Given the description of an element on the screen output the (x, y) to click on. 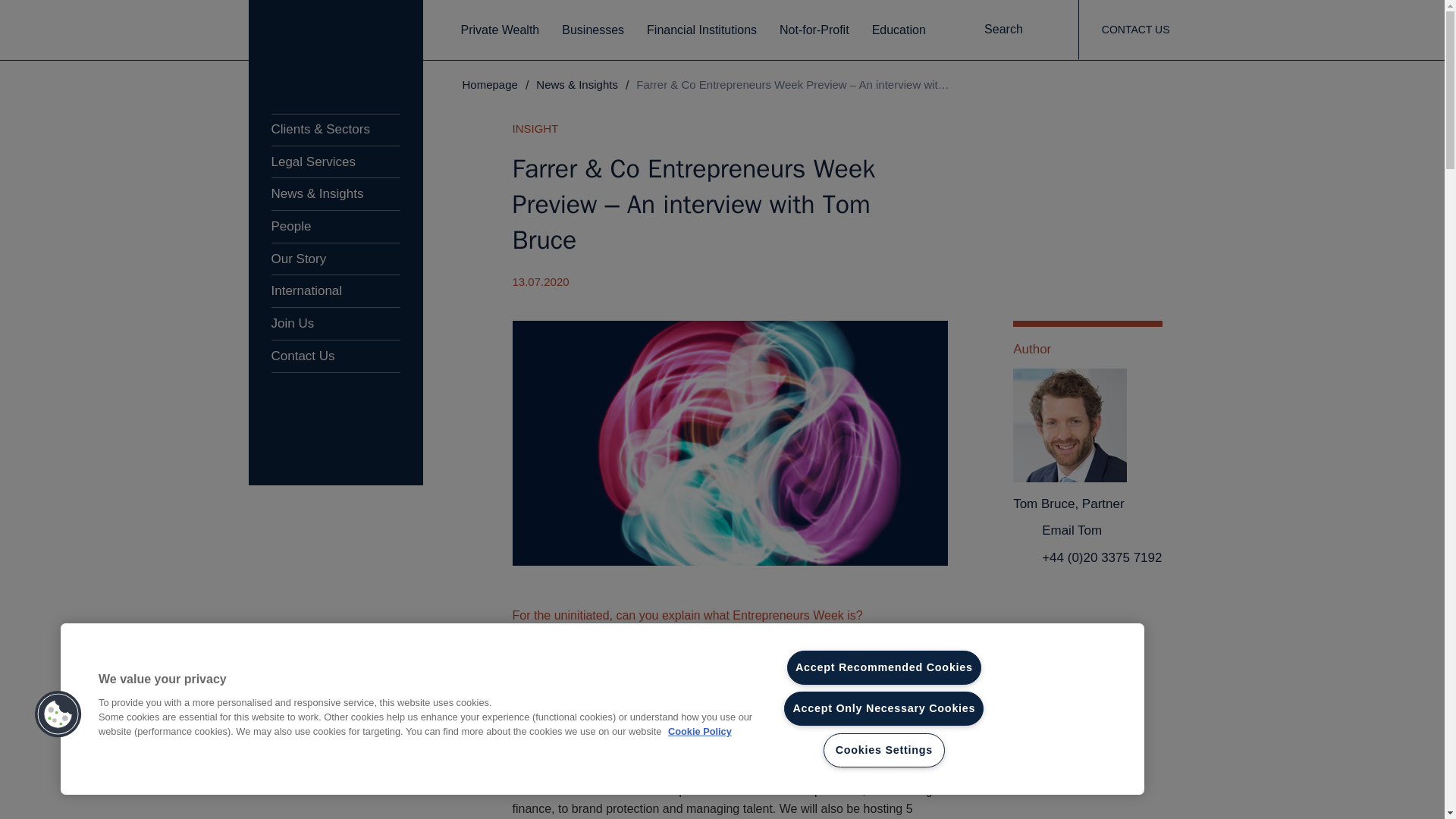
Businesses (593, 29)
Financial Institutions (701, 29)
CONTACT US (1135, 29)
Search (1016, 29)
Cookies Button (57, 714)
Private Wealth (500, 29)
Education (899, 29)
Not-for-Profit (813, 29)
